Given the description of an element on the screen output the (x, y) to click on. 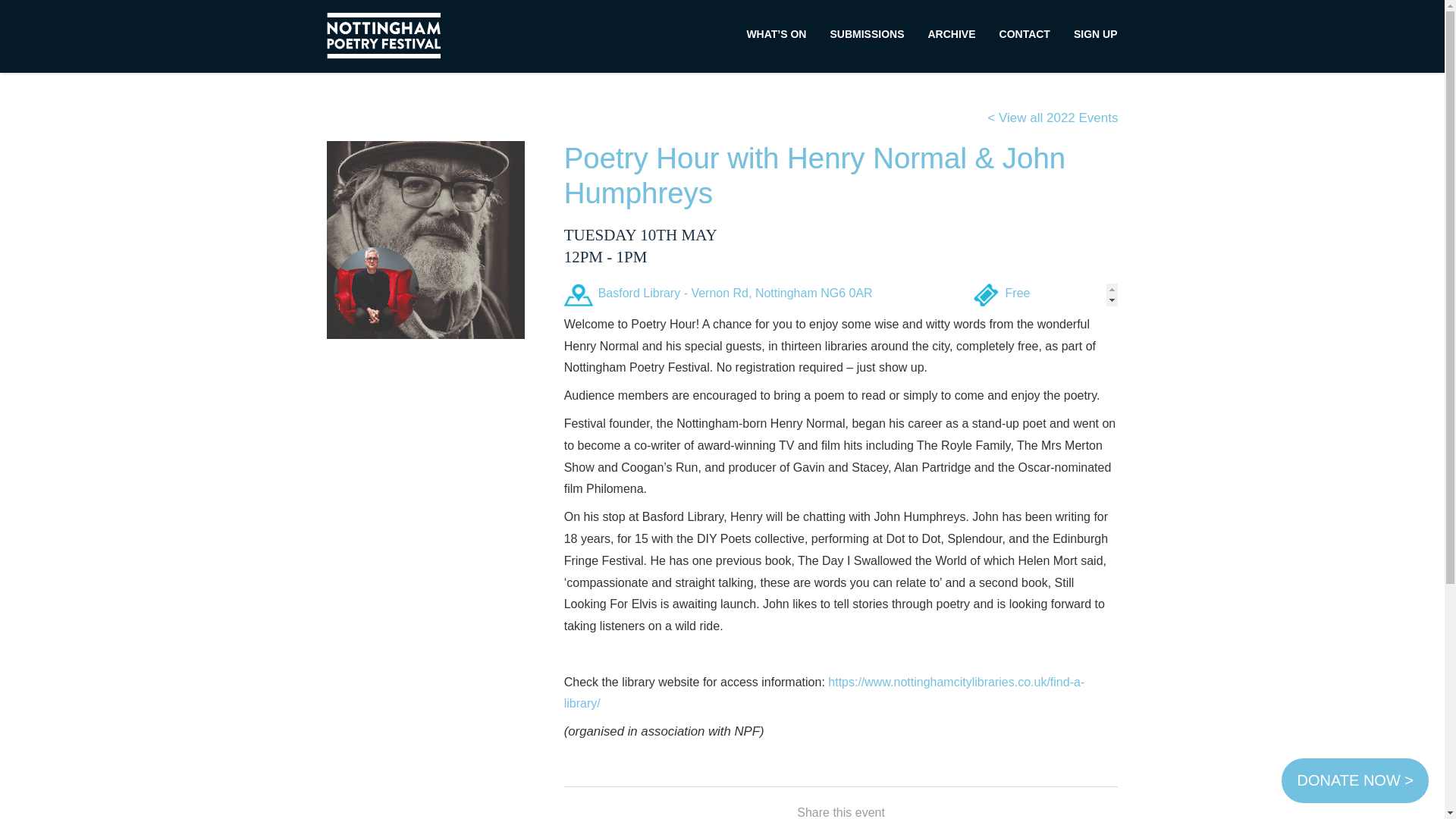
CONTACT (1024, 34)
ARCHIVE (951, 34)
SUBMISSIONS (866, 34)
